Given the description of an element on the screen output the (x, y) to click on. 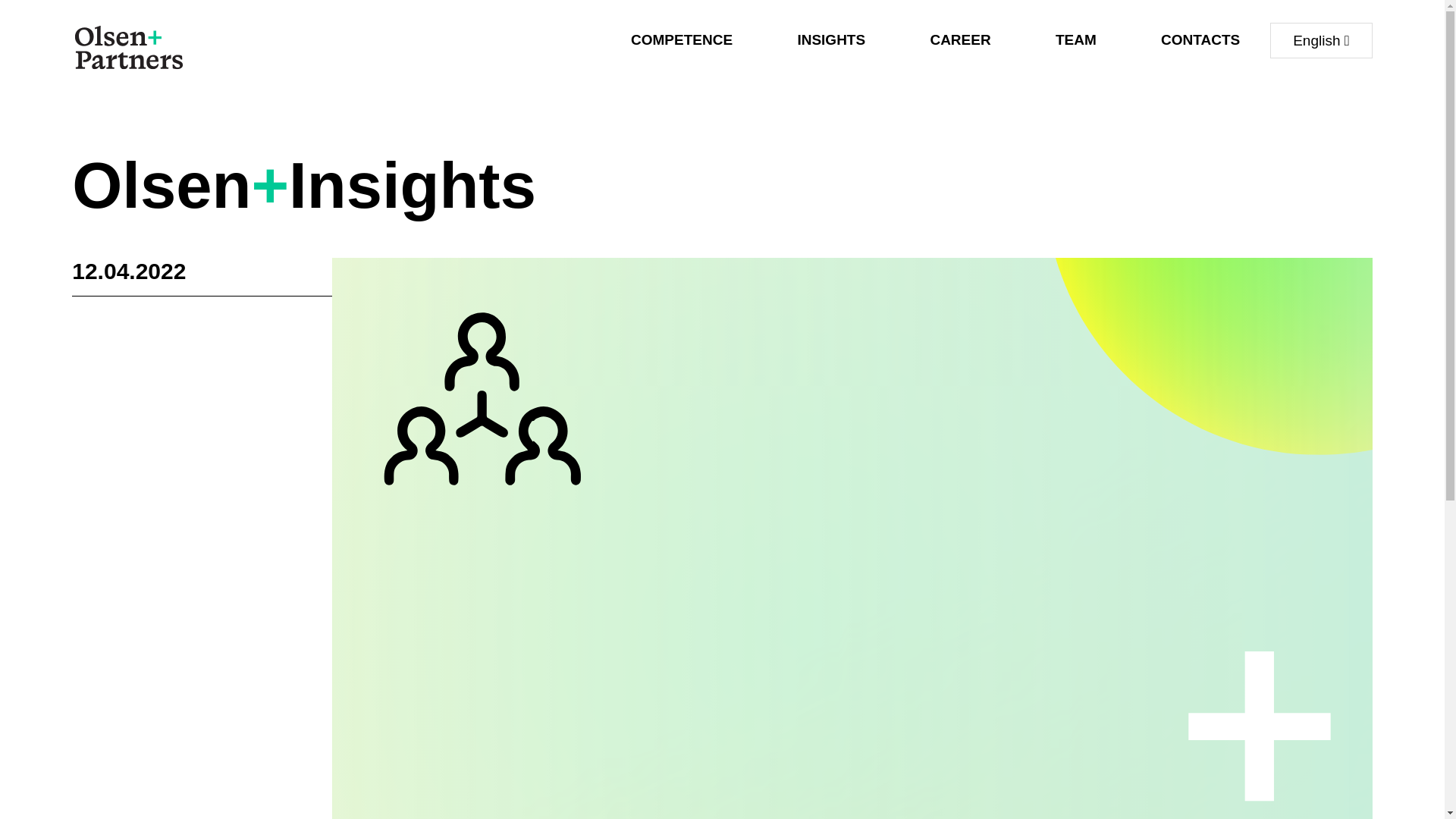
TEAM (1075, 39)
CAREER (960, 39)
English (1320, 40)
COMPETENCE (681, 39)
INSIGHTS (830, 39)
CONTACTS (1200, 39)
